Given the description of an element on the screen output the (x, y) to click on. 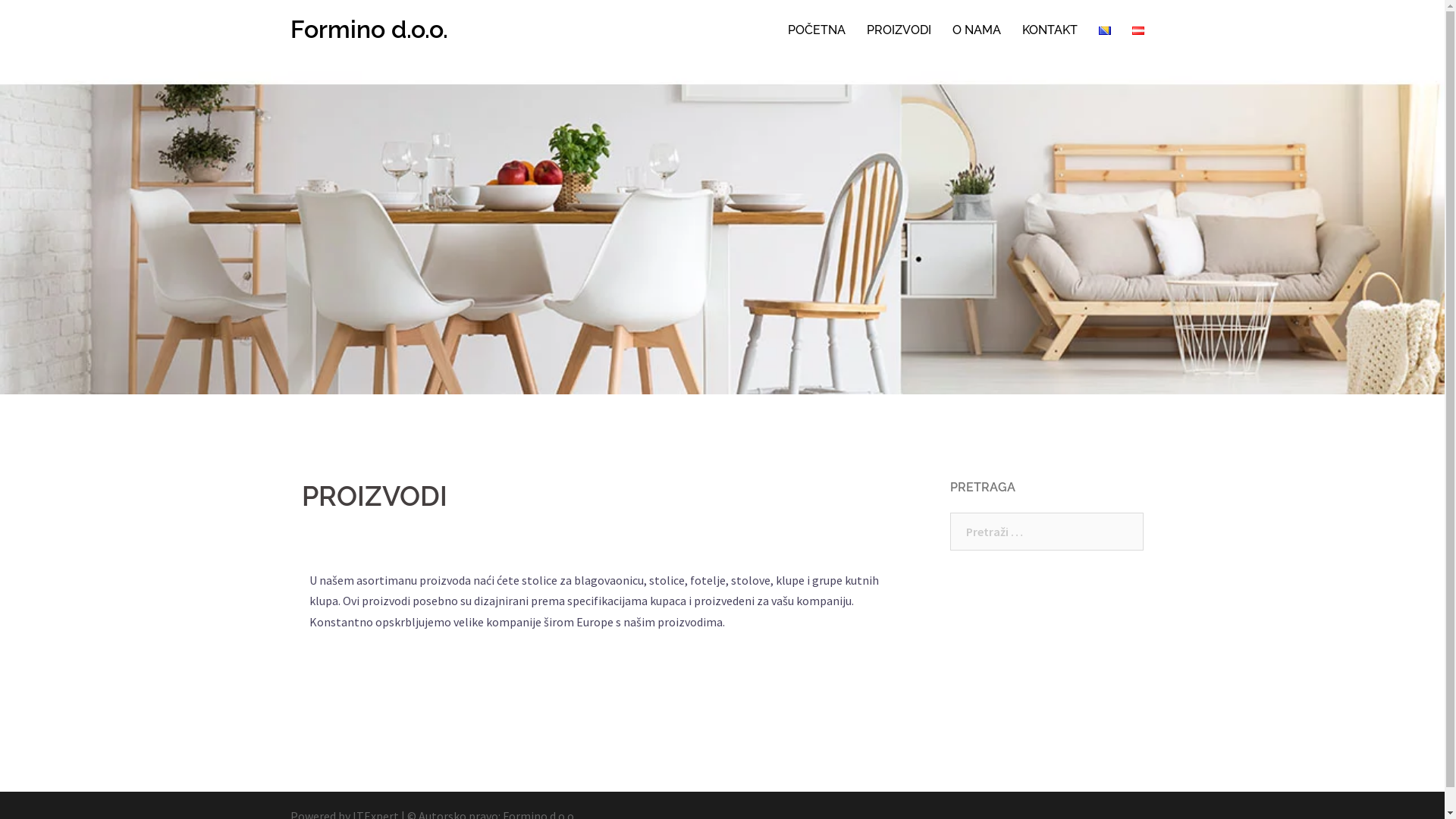
O NAMA Element type: text (976, 29)
Formino d.o.o. Element type: text (368, 29)
Bosanski Element type: hover (1104, 30)
KONTAKT Element type: text (1049, 29)
Deutsch Element type: hover (1137, 30)
PROIZVODI Element type: text (898, 29)
Pretraga Element type: text (52, 18)
